Given the description of an element on the screen output the (x, y) to click on. 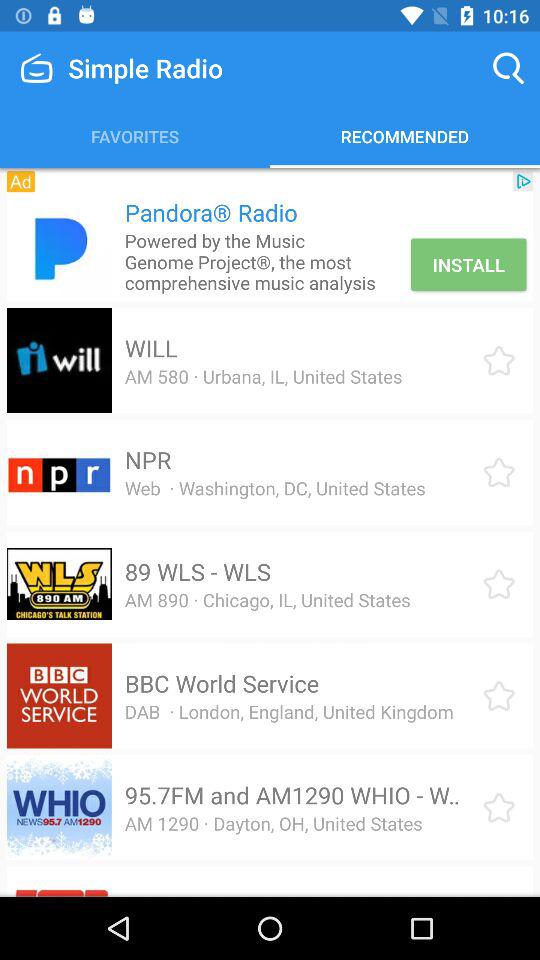
press icon to the right of the simple radio (508, 67)
